Given the description of an element on the screen output the (x, y) to click on. 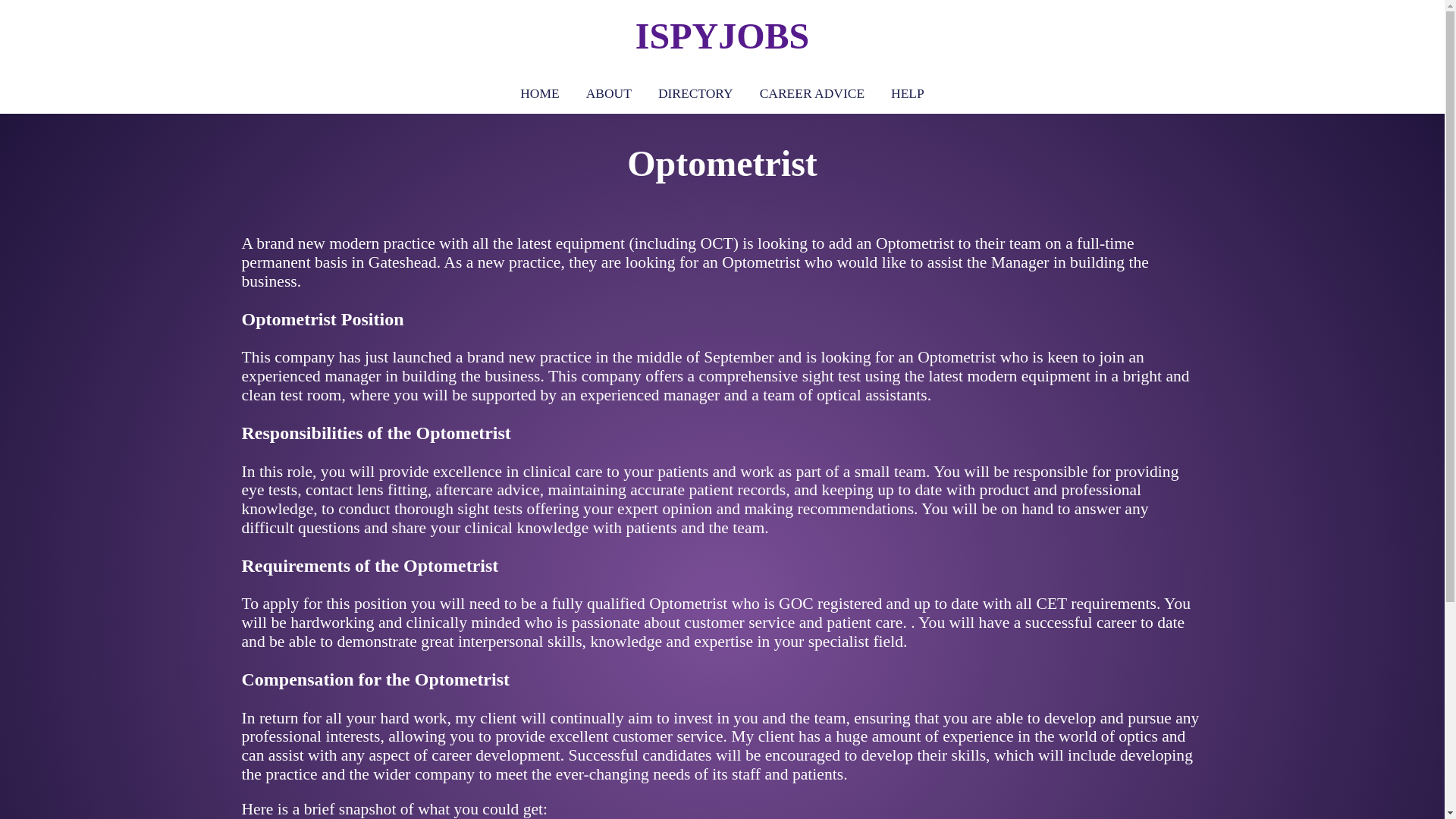
DIRECTORY (695, 92)
HOME (539, 92)
HELP (907, 92)
ISPYJOBS (722, 36)
ABOUT (608, 92)
CAREER ADVICE (811, 92)
